Given the description of an element on the screen output the (x, y) to click on. 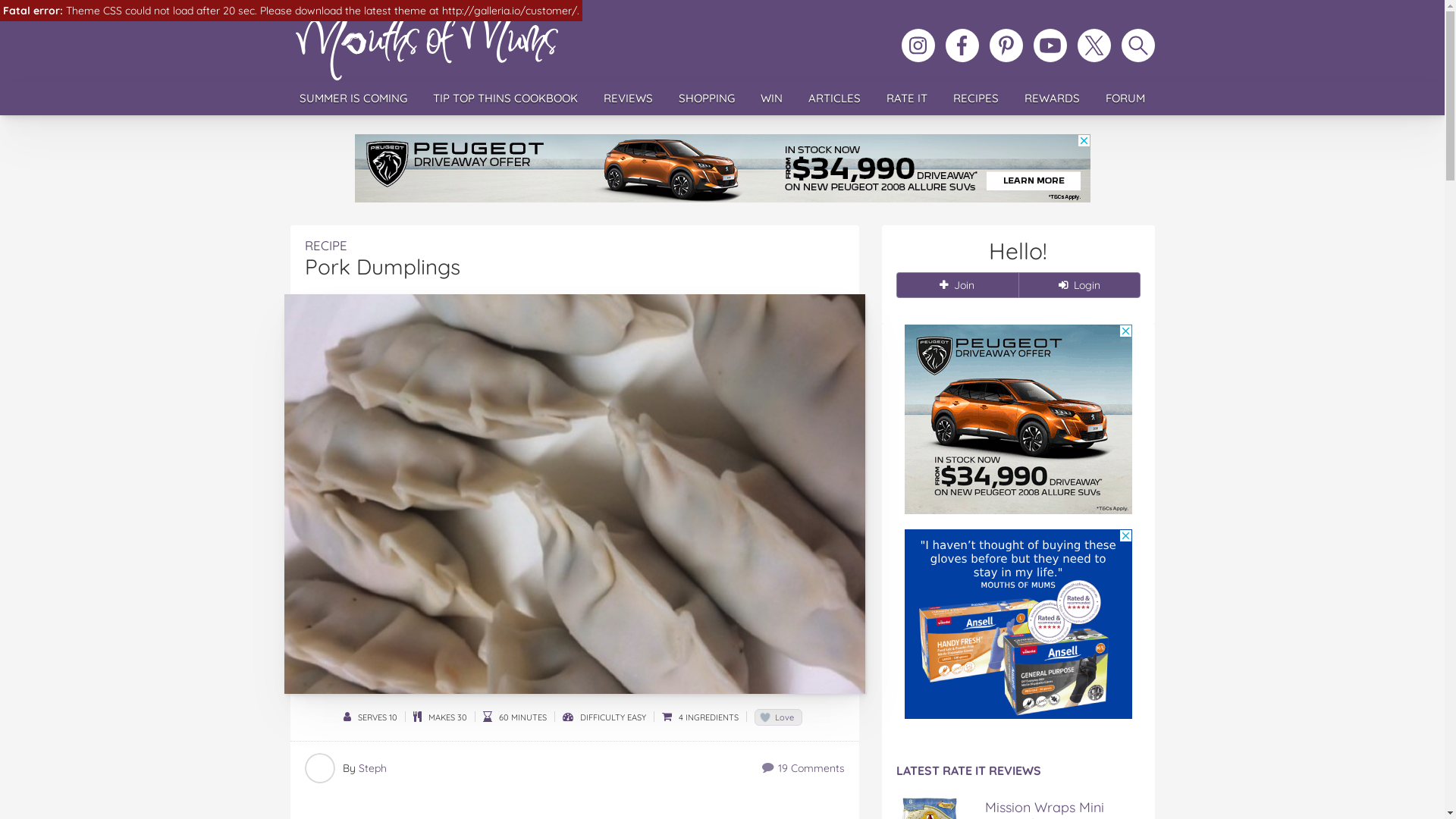
WIN Element type: text (771, 98)
LATEST RATE IT REVIEWS Element type: text (1018, 771)
FORUM Element type: text (1124, 98)
3rd party ad content Element type: hover (722, 168)
3rd party ad content Element type: hover (1017, 419)
Join Element type: text (957, 285)
MoMs on Pinterest Element type: text (1005, 45)
RATE IT Element type: text (906, 98)
Follow MoMs on Instagram Element type: text (917, 45)
REWARDS Element type: text (1051, 98)
REVIEWS Element type: text (627, 98)
SHOPPING Element type: text (706, 98)
SUMMER IS COMING Element type: text (353, 98)
Love Element type: text (777, 717)
RECIPES Element type: text (975, 98)
19 Comments Element type: text (803, 768)
Login Element type: text (1078, 285)
Search MoMs Element type: text (1137, 45)
Like MoMs on Facebook Element type: text (961, 45)
Follow MoMs on Twitter Element type: text (1093, 45)
MoMs YouTube Channel Element type: text (1049, 45)
TIP TOP THINS COOKBOOK Element type: text (505, 98)
Steph Element type: text (371, 768)
ARTICLES Element type: text (834, 98)
3rd party ad content Element type: hover (1017, 623)
